Given the description of an element on the screen output the (x, y) to click on. 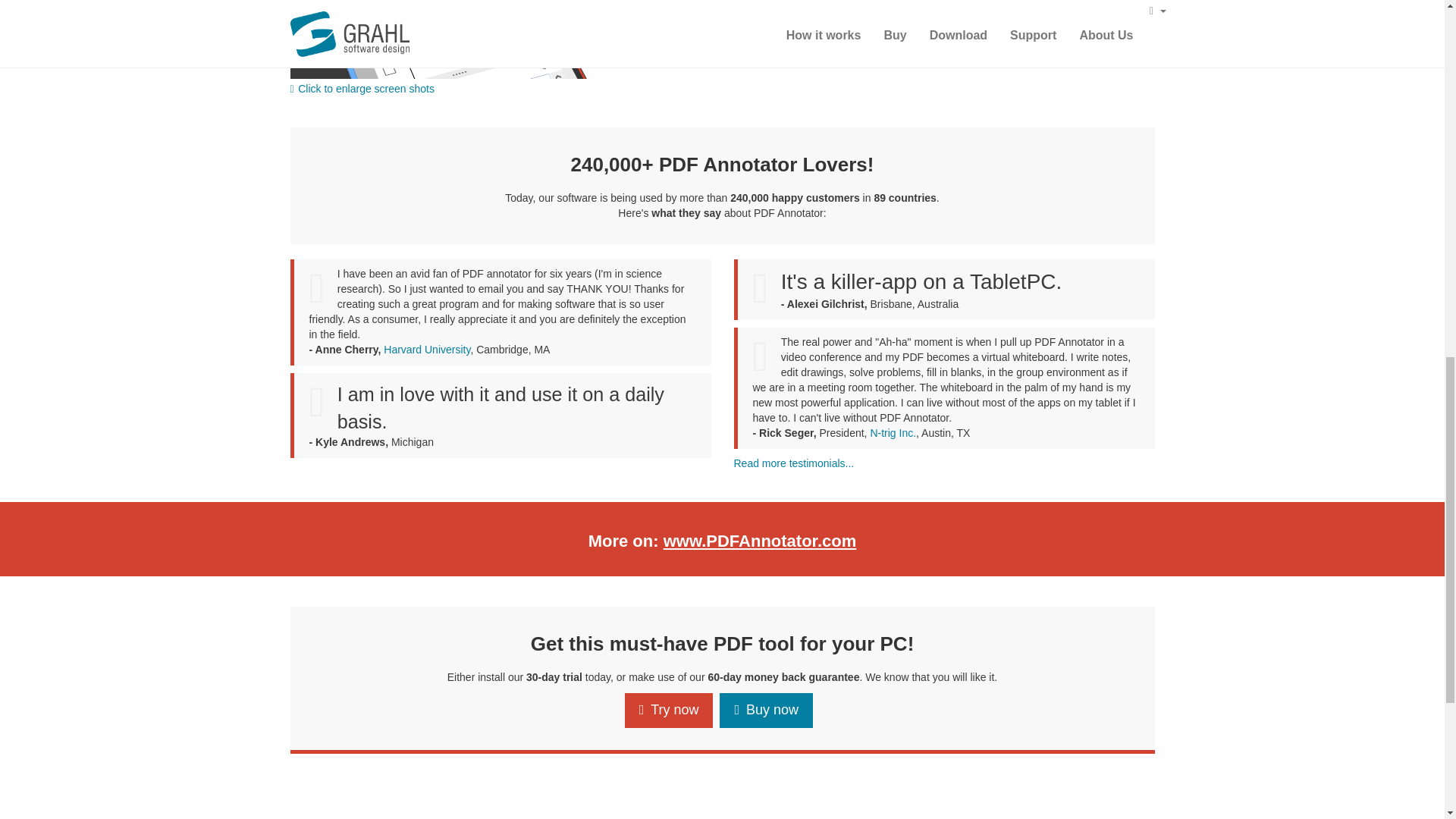
Click to enlarge screen shots (499, 48)
Read more testimonials... (793, 463)
N-trig Inc. (892, 432)
Harvard University (427, 349)
Try now (668, 710)
Buy now (765, 710)
www.PDFAnnotator.com (760, 540)
